Given the description of an element on the screen output the (x, y) to click on. 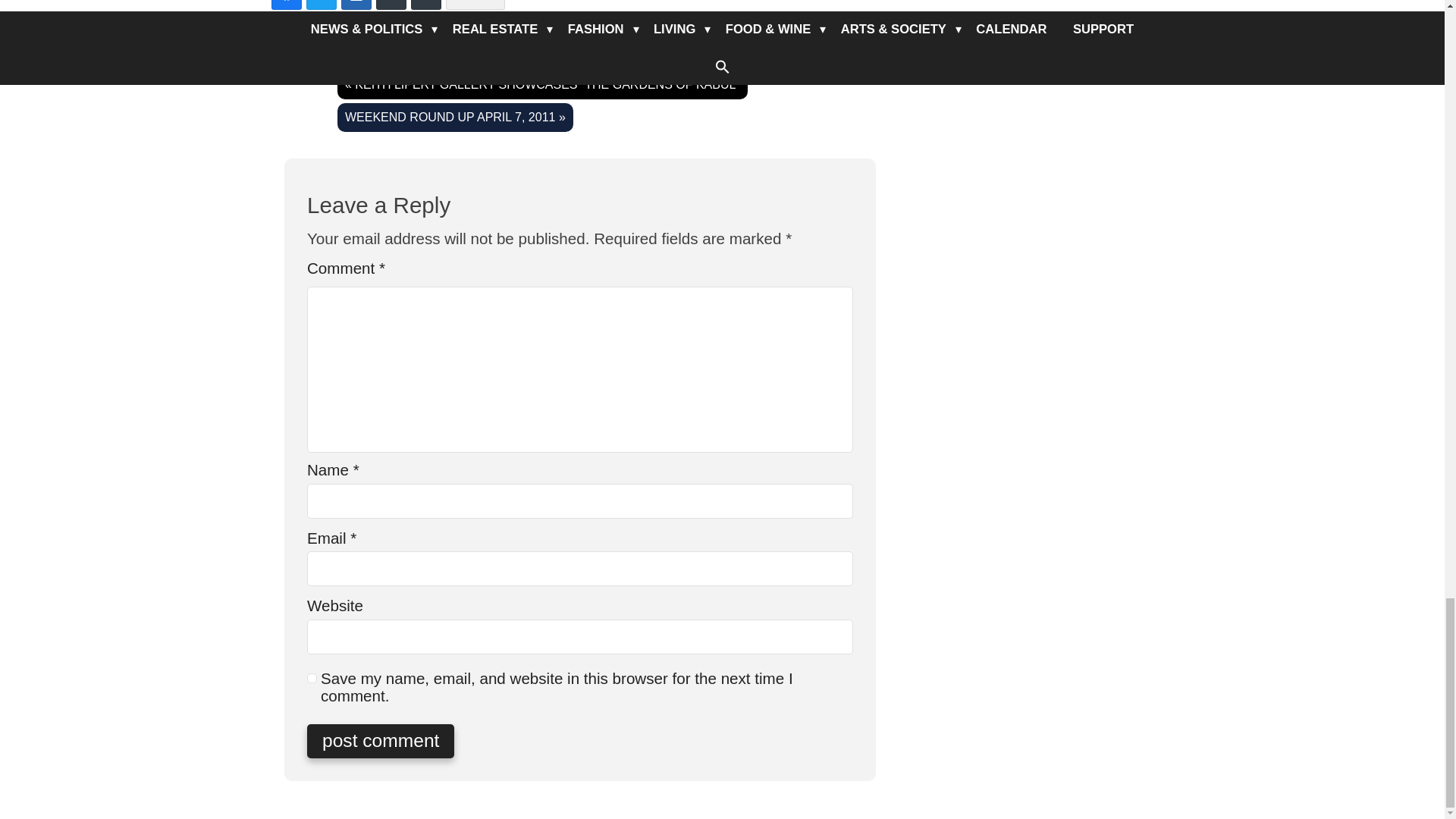
yes (312, 678)
Post Comment (380, 740)
